Given the description of an element on the screen output the (x, y) to click on. 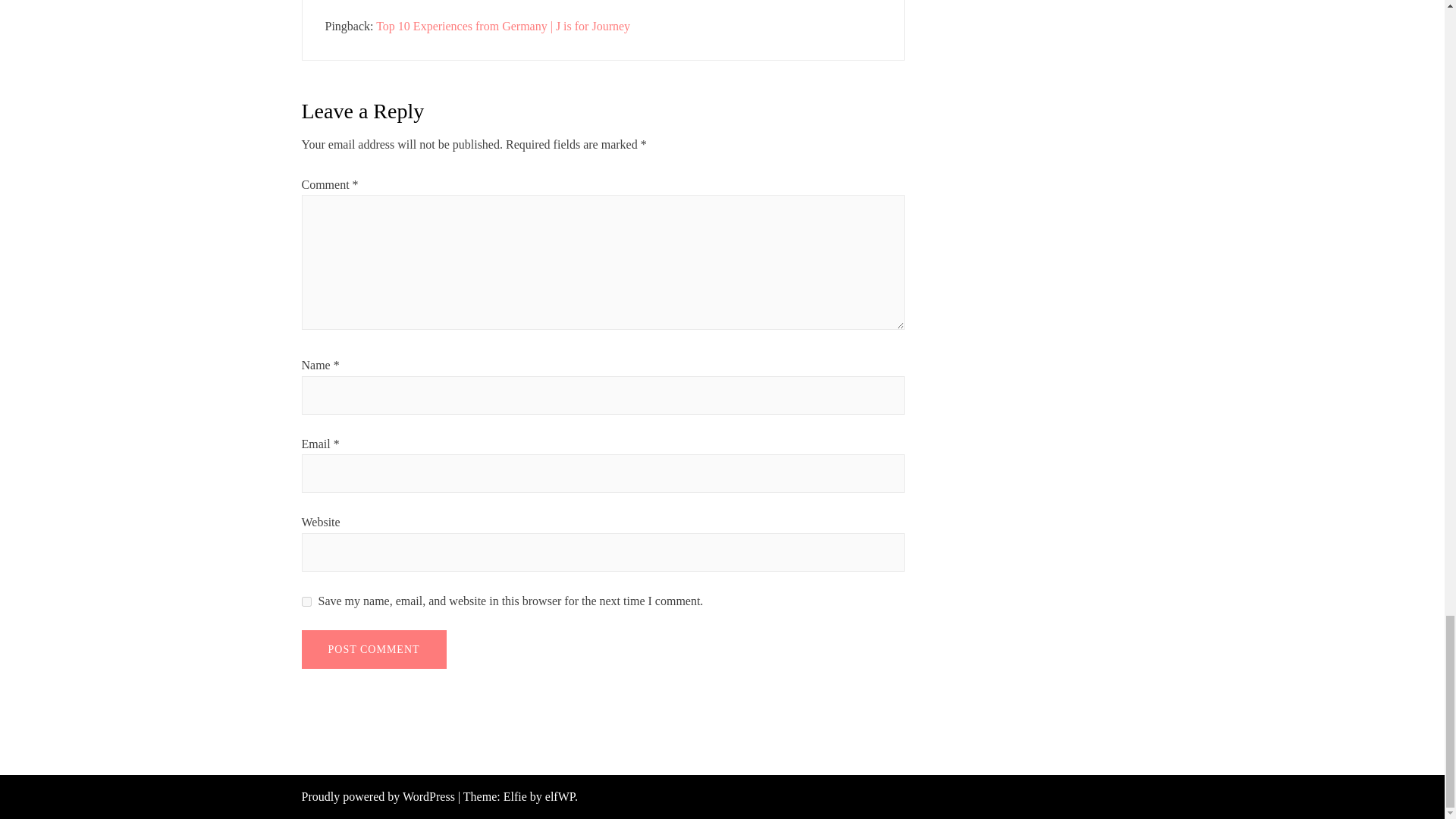
Post Comment (373, 649)
yes (306, 601)
